Given the description of an element on the screen output the (x, y) to click on. 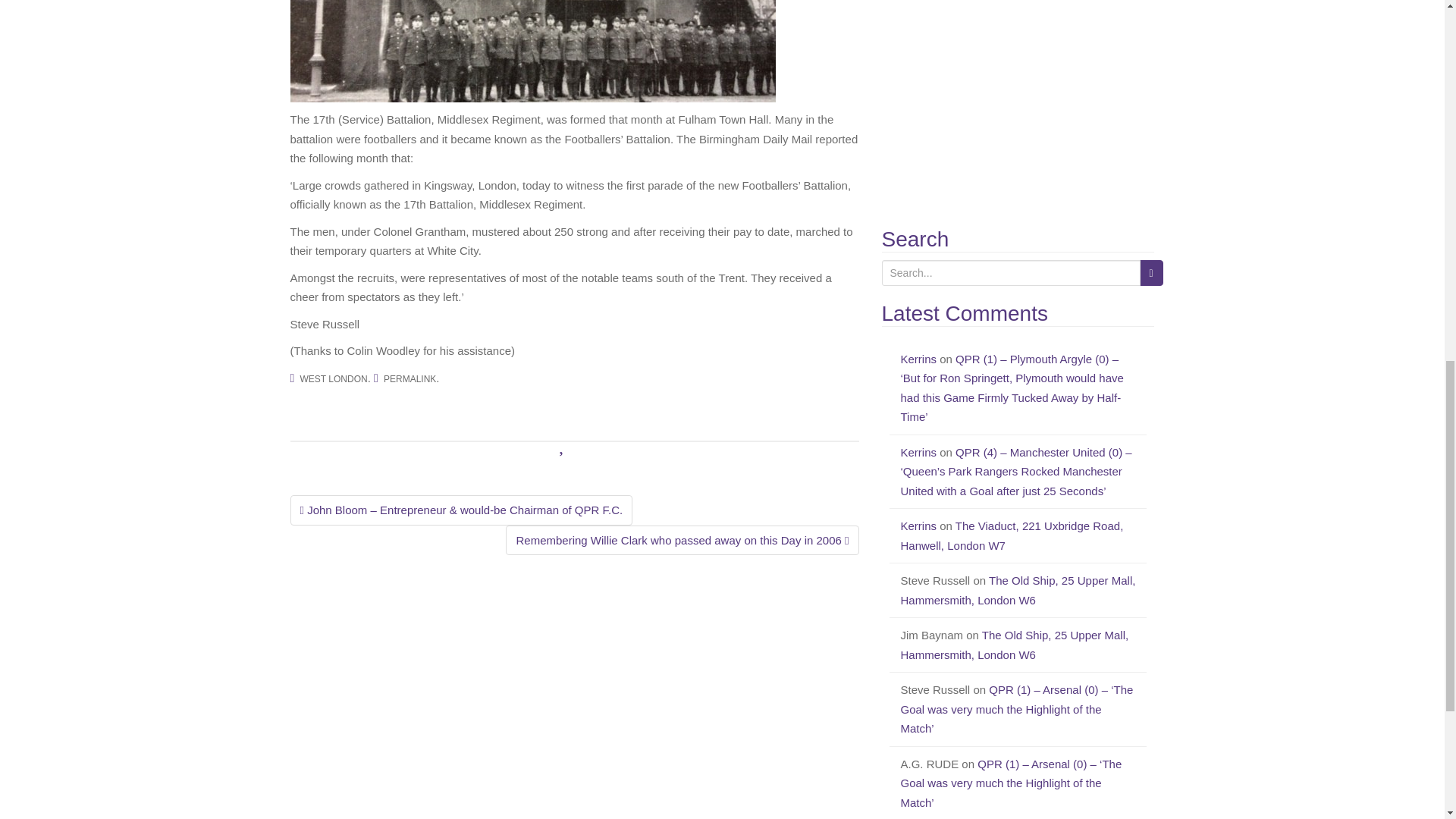
The Old Ship, 25 Upper Mall, Hammersmith, London W6 (1015, 644)
WEST LONDON (333, 378)
The Viaduct, 221 Uxbridge Road, Hanwell, London W7 (1012, 535)
The Old Ship, 25 Upper Mall, Hammersmith, London W6 (1018, 590)
Kerrins (919, 525)
Kerrins (919, 451)
Kerrins (919, 358)
Remembering Willie Clark who passed away on this Day in 2006 (682, 540)
PERMALINK (409, 378)
